Given the description of an element on the screen output the (x, y) to click on. 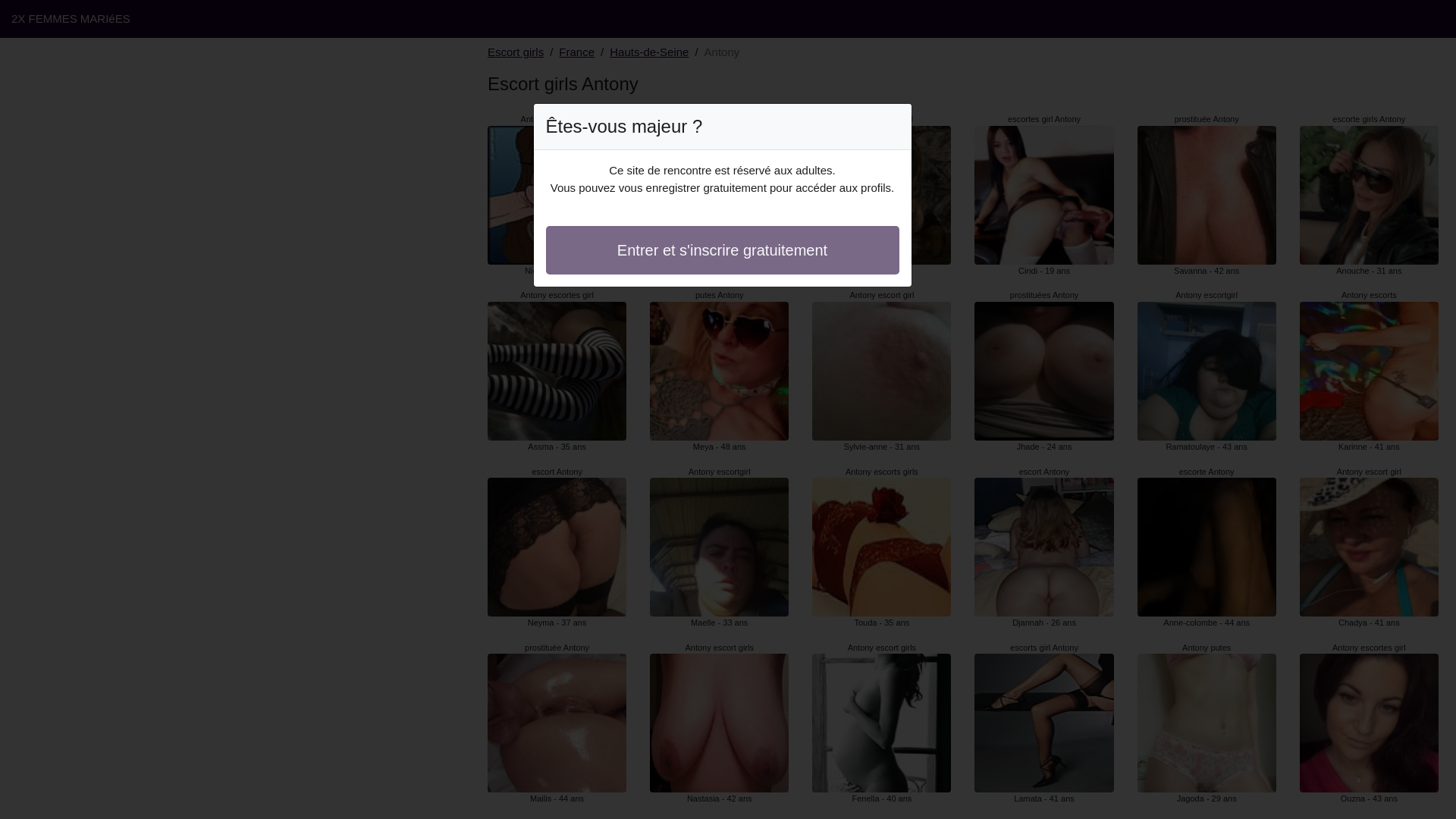
France Element type: text (576, 52)
Escort girls Element type: text (515, 52)
Entrer et s'inscrire gratuitement Element type: text (722, 249)
Hauts-de-Seine Element type: text (648, 52)
